Given the description of an element on the screen output the (x, y) to click on. 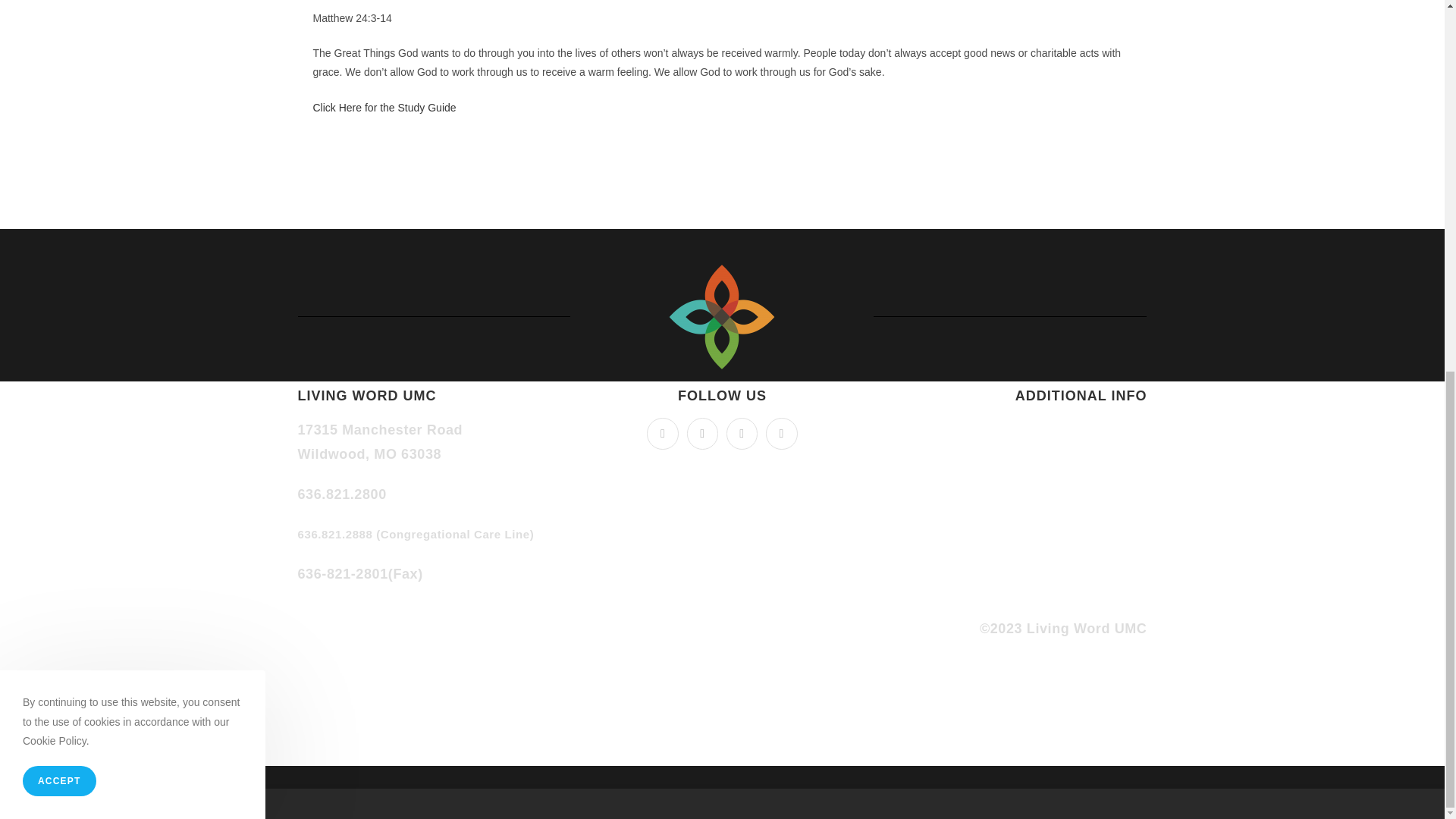
17315 Manchester Ave (722, 460)
17315 Manchester Ave (722, 548)
